Given the description of an element on the screen output the (x, y) to click on. 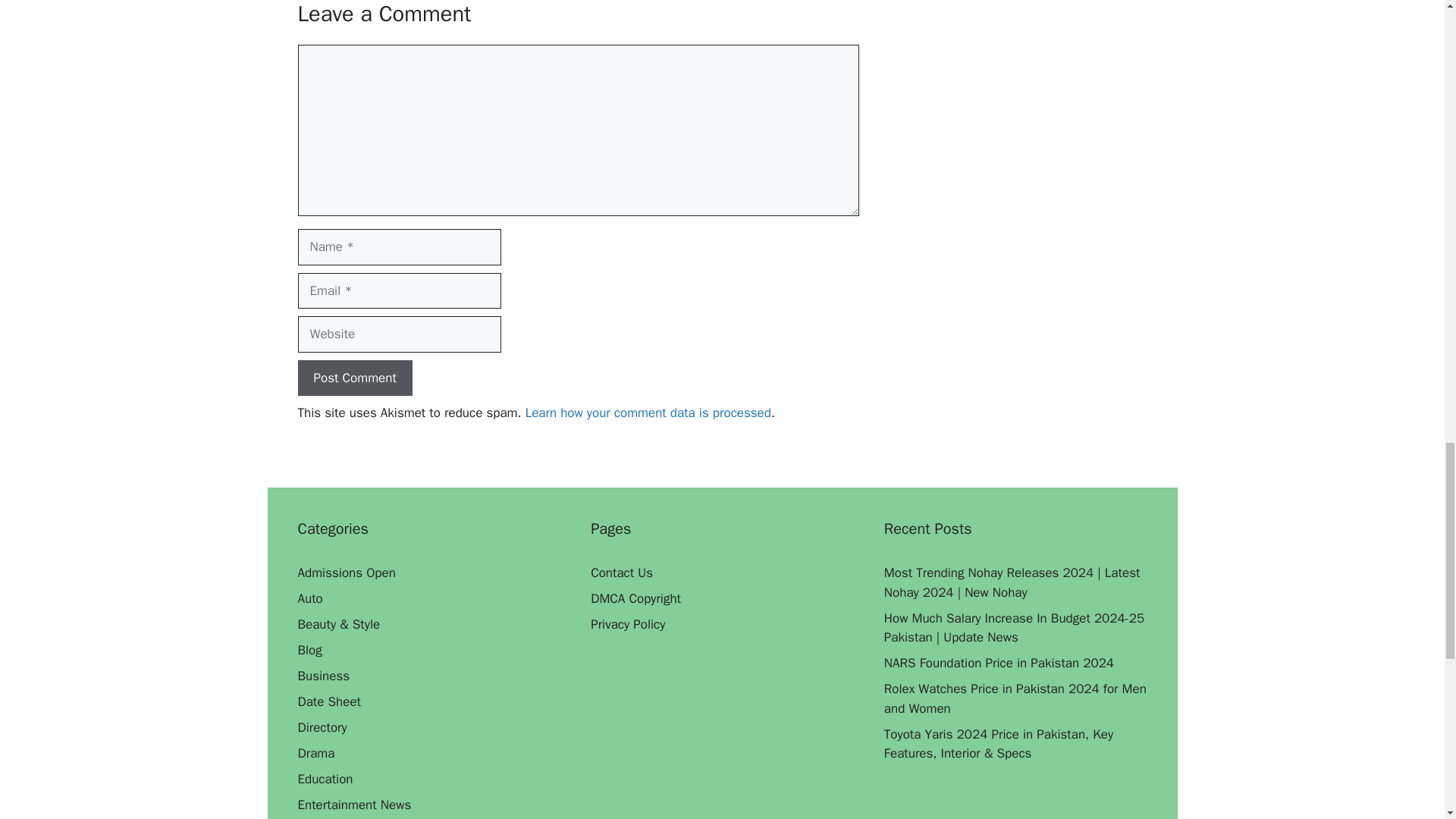
Post Comment (354, 378)
